Given the description of an element on the screen output the (x, y) to click on. 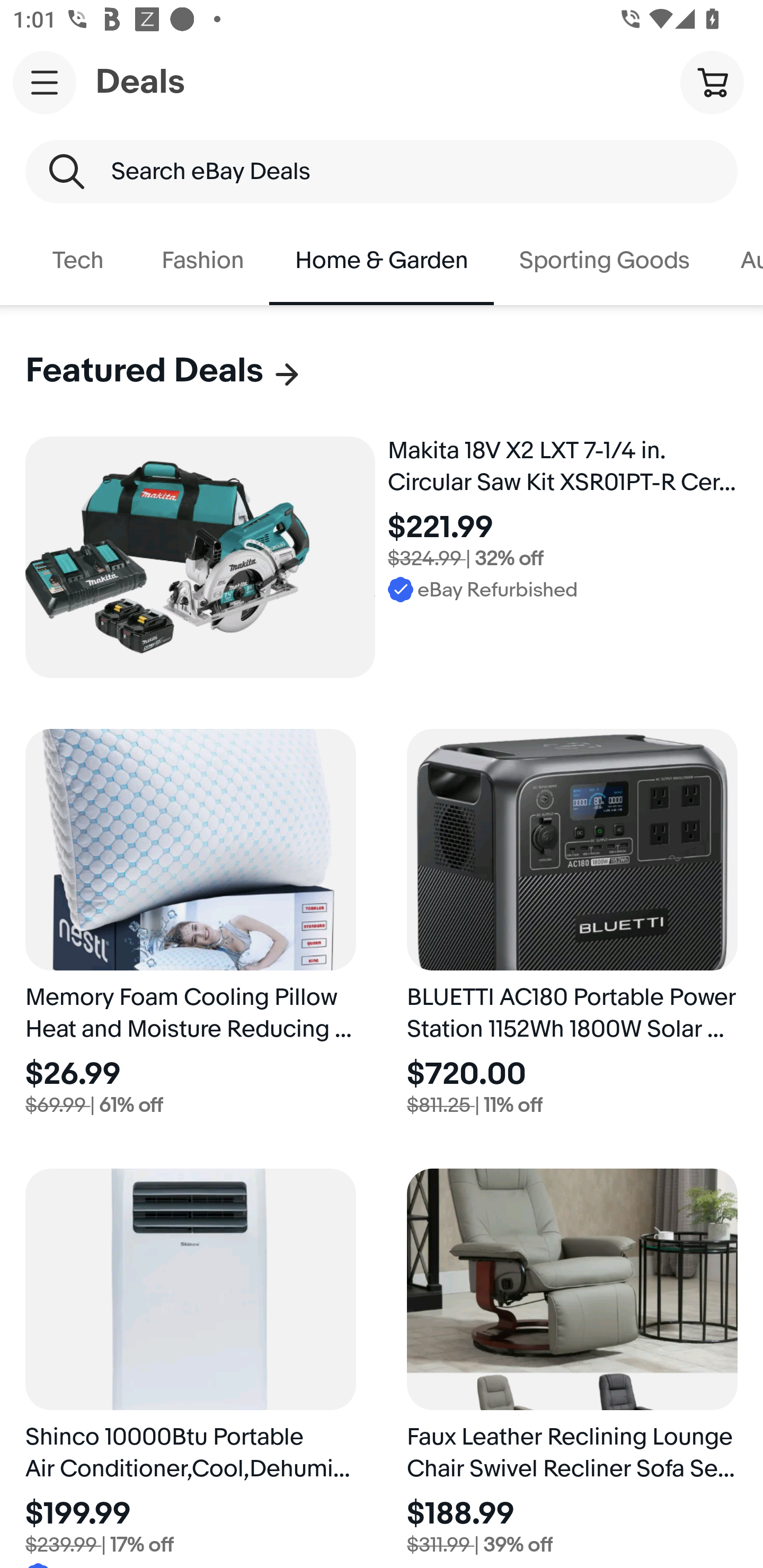
Main navigation, open (44, 82)
Cart button shopping cart (711, 81)
Search eBay Deals Search Keyword Search eBay Deals (381, 171)
Tech. Button. 2 of 7. Tech (78, 260)
Fashion. Button. 3 of 7. Fashion (202, 260)
Sporting Goods. Button. 5 of 7. Sporting Goods (604, 260)
Featured Deals   Featured Deals,7 items (163, 370)
